Given the description of an element on the screen output the (x, y) to click on. 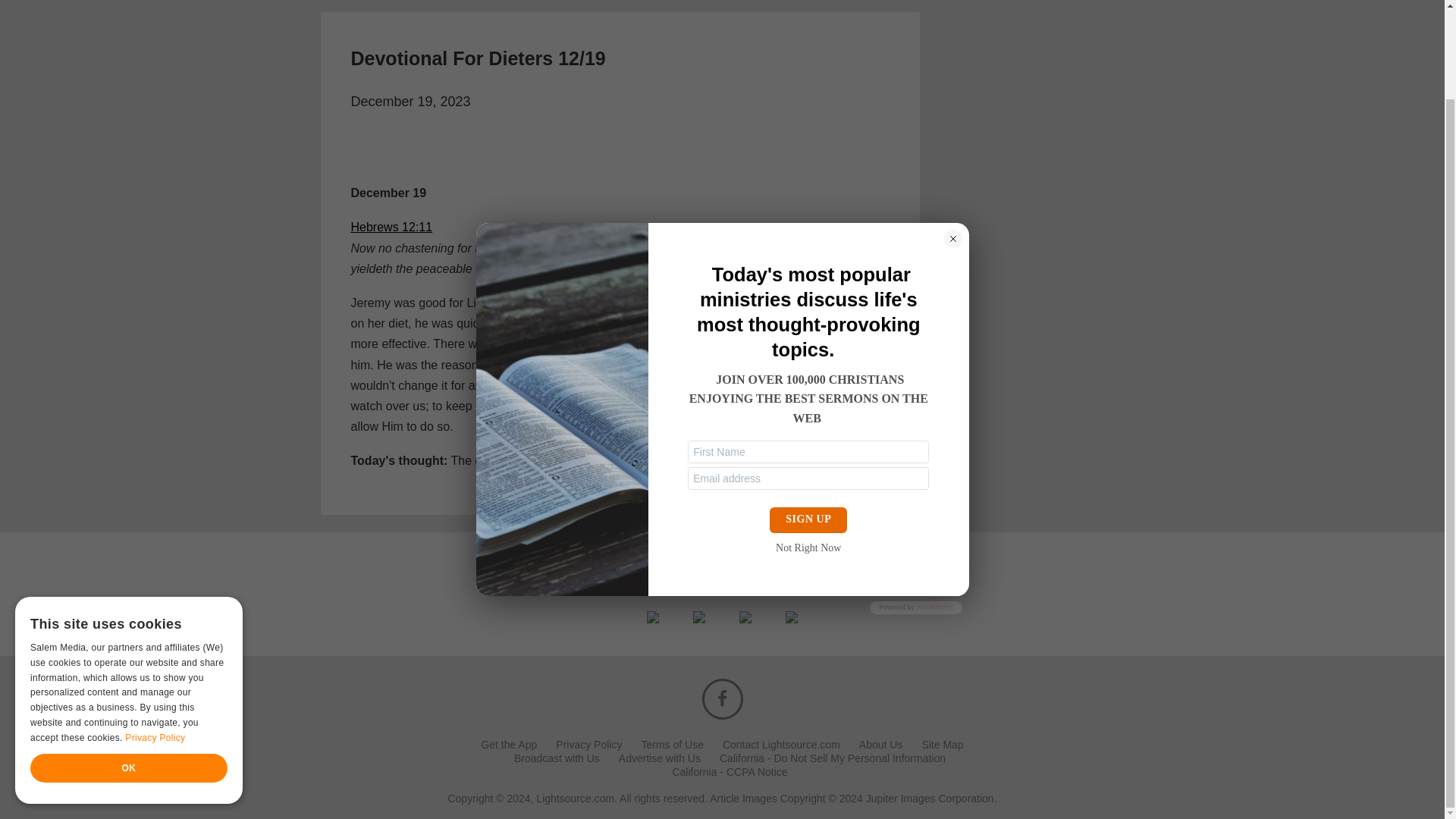
Privacy Policy (588, 744)
Advertise with Us (659, 757)
Get the App (508, 744)
Terms of Use (671, 744)
California - CCPA Notice (729, 771)
Broadcast with Us (556, 757)
Site Map (941, 744)
California - Do Not Sell My Personal Information (831, 757)
About Us (880, 744)
Contact Lightsource.com (781, 744)
Hebrews 12:11 (391, 226)
